Given the description of an element on the screen output the (x, y) to click on. 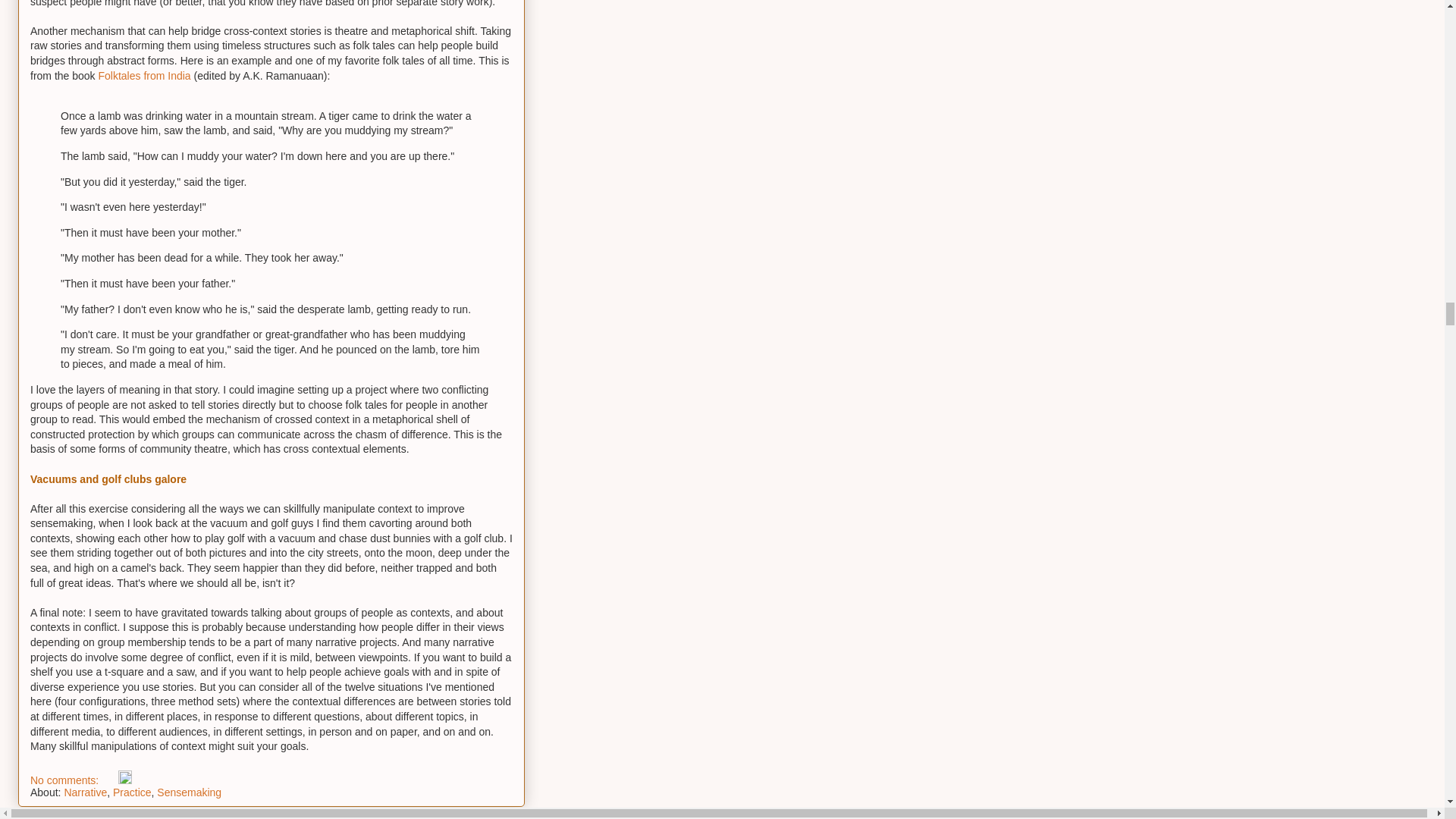
Narrative (85, 792)
Folktales from India (144, 75)
Email Post (109, 779)
Edit Post (124, 779)
Practice (132, 792)
No comments: (65, 779)
